Given the description of an element on the screen output the (x, y) to click on. 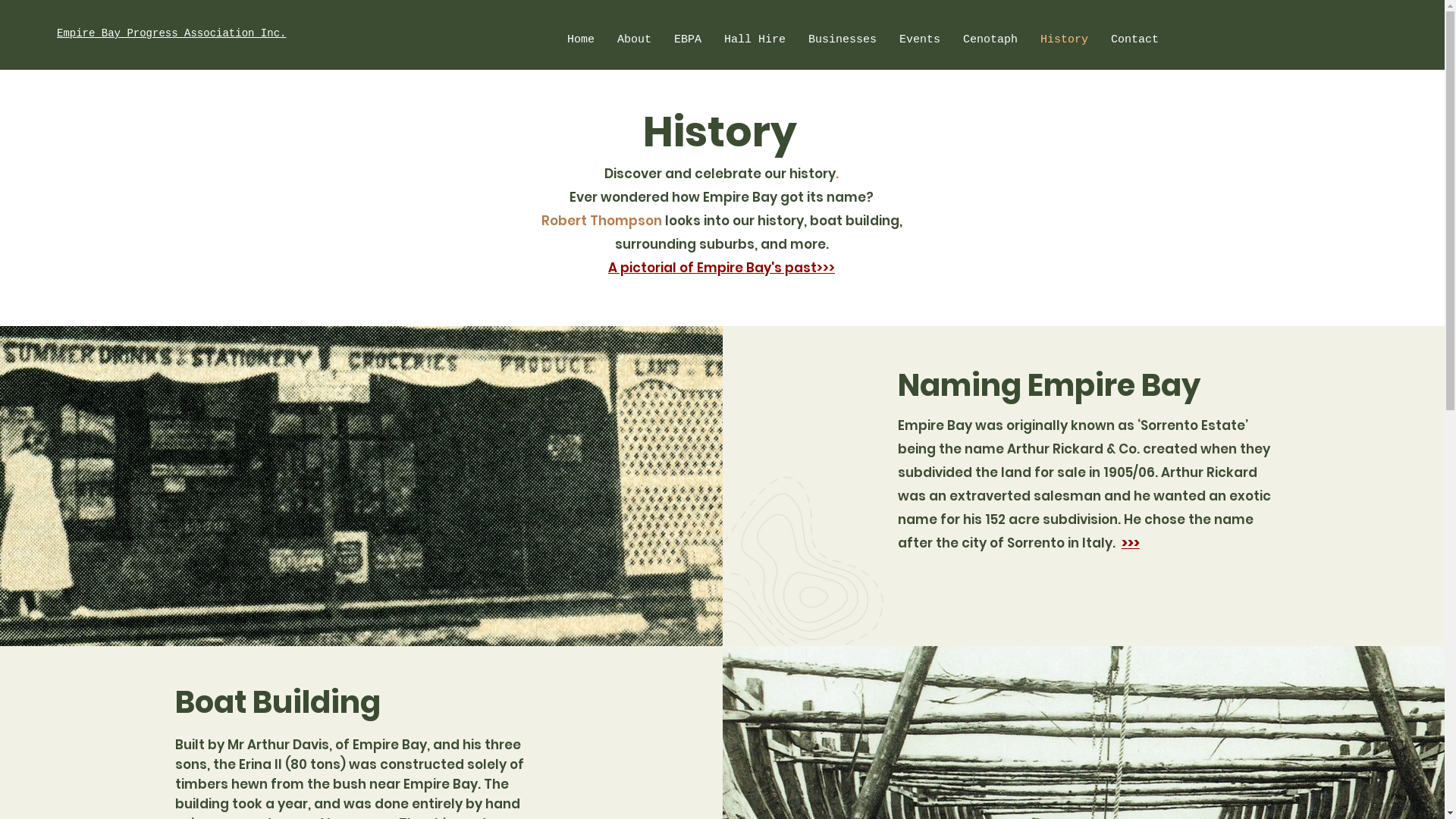
Businesses Element type: text (842, 40)
History Element type: text (1064, 40)
Hall Hire Element type: text (754, 40)
EBPA Element type: text (687, 40)
Home Element type: text (580, 40)
A pictorial of Empire Bay's past>>> Element type: text (721, 267)
About Element type: text (633, 40)
Events Element type: text (919, 40)
Contact Element type: text (1134, 40)
Empire Bay Progress Association Inc. Element type: text (170, 33)
Cenotaph Element type: text (990, 40)
>>> Element type: text (1130, 542)
